Given the description of an element on the screen output the (x, y) to click on. 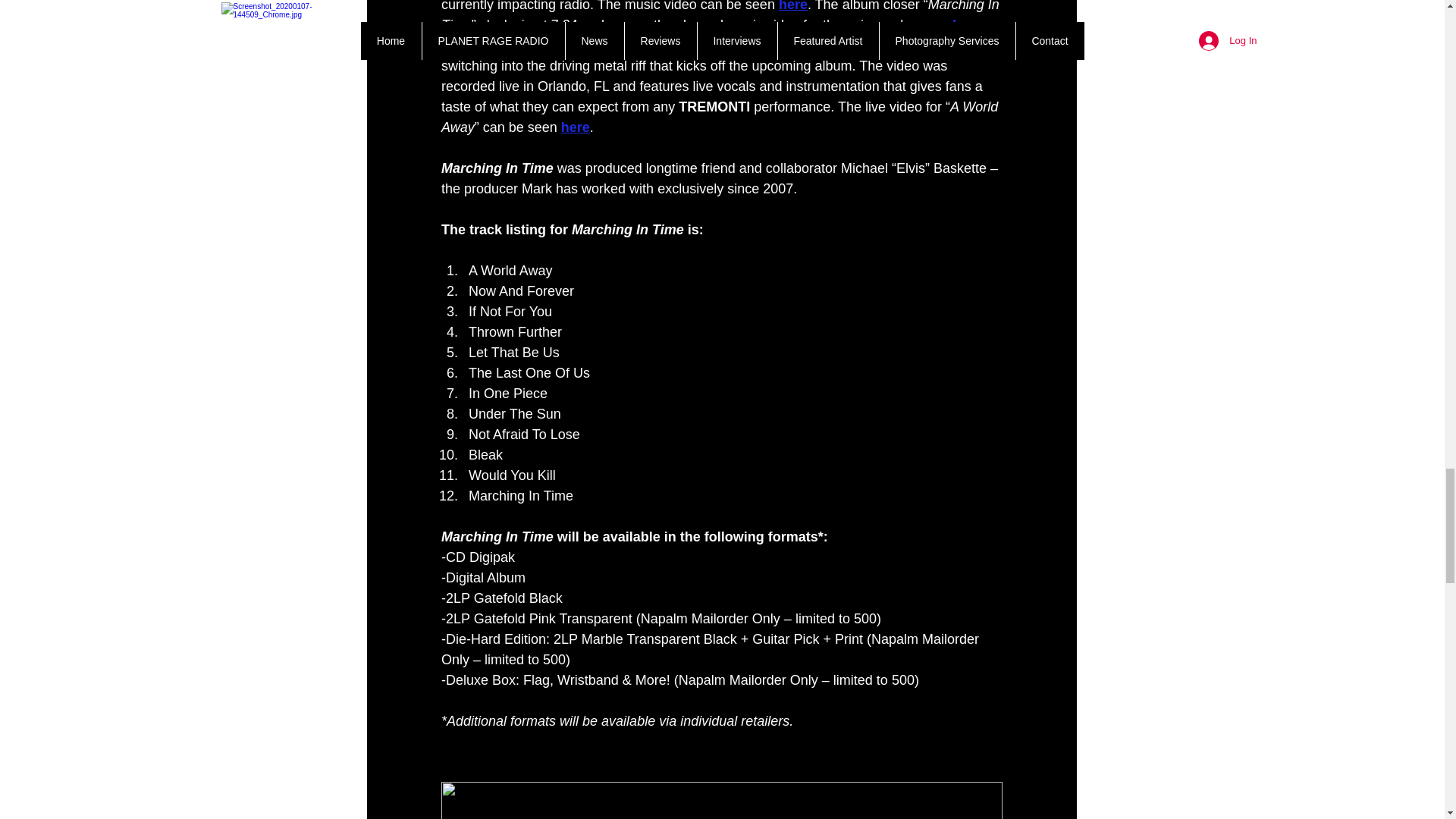
here (791, 6)
here (966, 24)
here (574, 127)
